Given the description of an element on the screen output the (x, y) to click on. 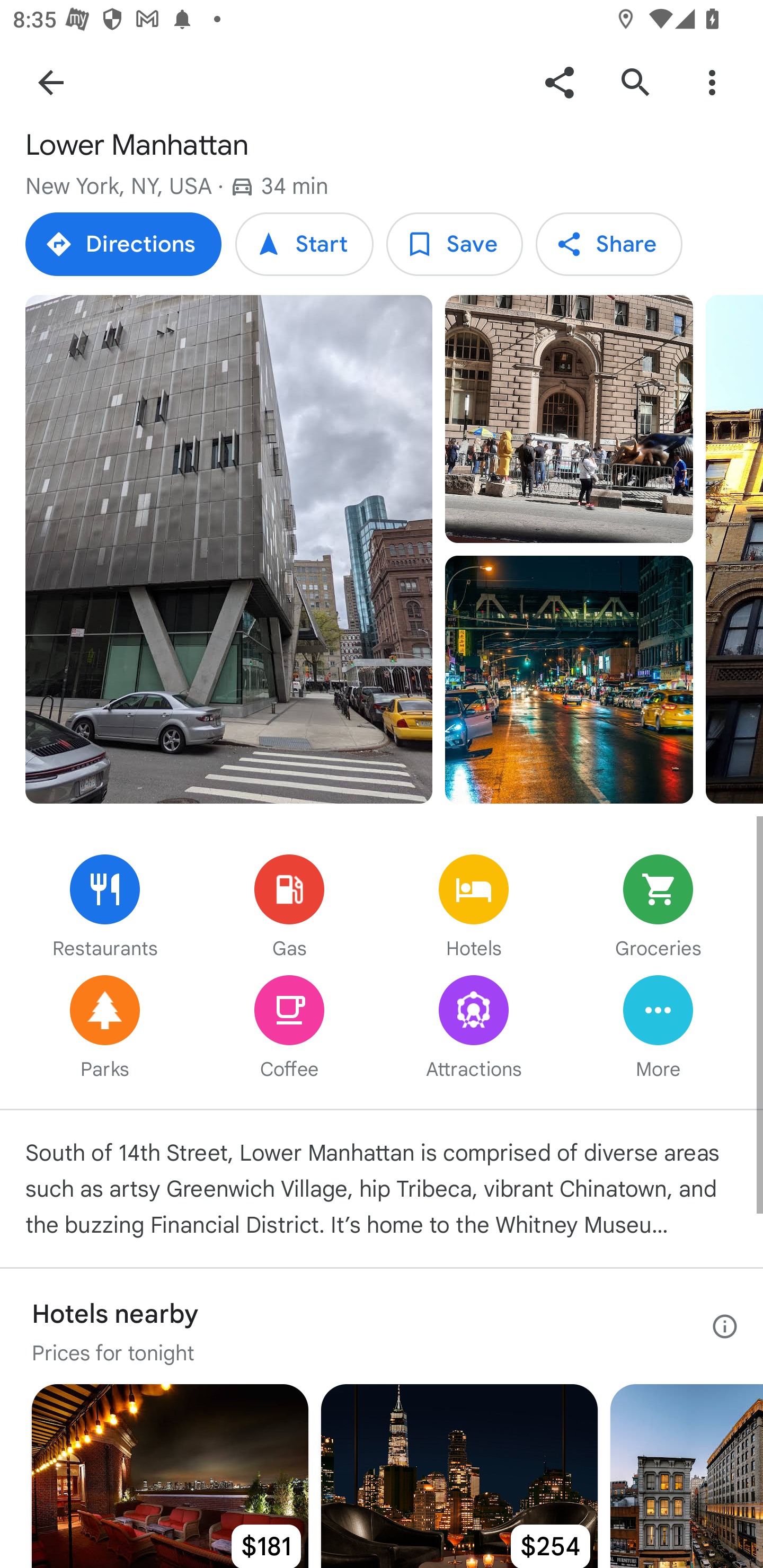
Back to Search (50, 81)
Share (559, 81)
Search (635, 81)
More options for Lower Manhattan (711, 81)
Start Start Start (304, 243)
Share Lower Manhattan Share Share Lower Manhattan (608, 243)
Photo (228, 548)
Photo (568, 418)
Photo (568, 678)
Restaurants (104, 908)
Gas (288, 908)
Hotels (473, 908)
Groceries (658, 908)
Parks (104, 1029)
Coffee (288, 1029)
Attractions (473, 1029)
More (658, 1029)
About hotel pricing (724, 1326)
$181 (170, 1476)
$254 (459, 1476)
